Given the description of an element on the screen output the (x, y) to click on. 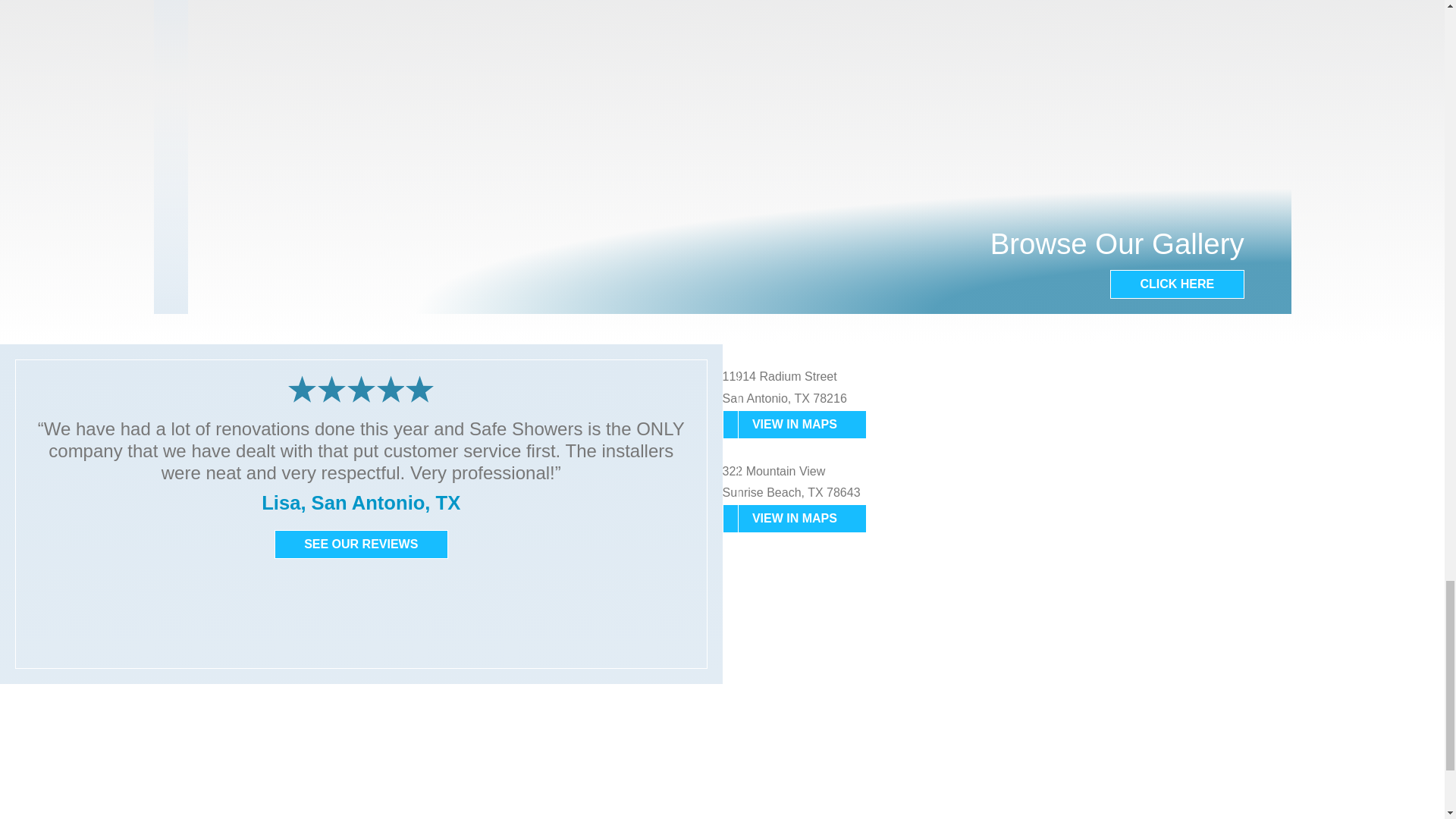
Facebook (82, 731)
Yelp (117, 731)
